Given the description of an element on the screen output the (x, y) to click on. 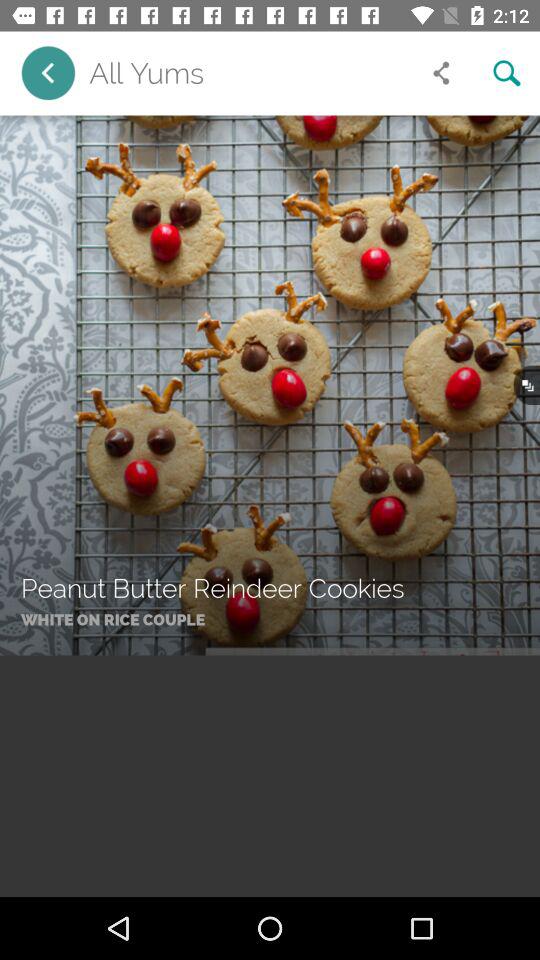
choose the item at the top left corner (48, 72)
